Given the description of an element on the screen output the (x, y) to click on. 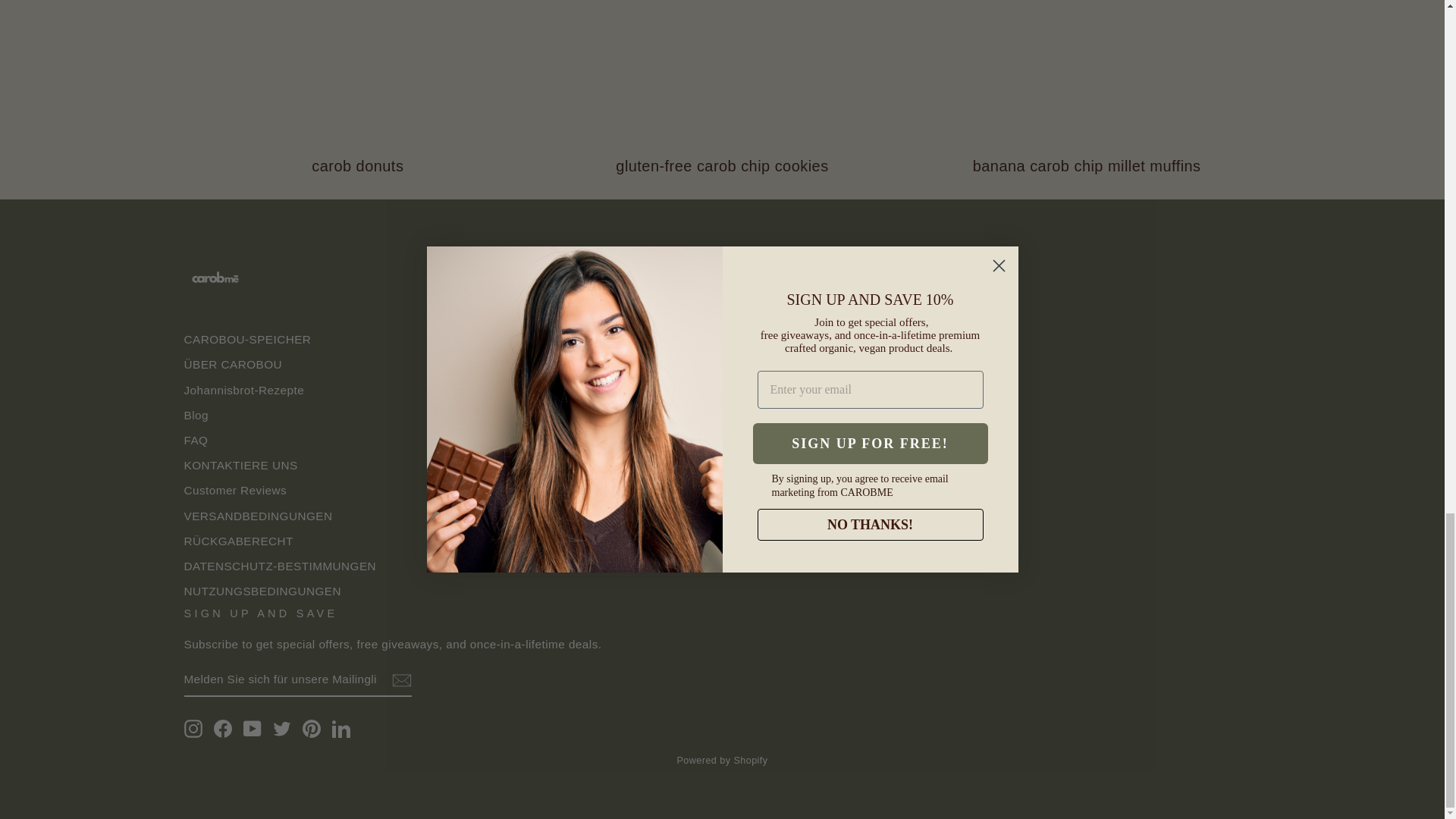
carobme auf YouTube (251, 728)
carobme auf Instagram (192, 728)
carobme auf Facebook (222, 728)
carobme auf Twitter (282, 728)
